Given the description of an element on the screen output the (x, y) to click on. 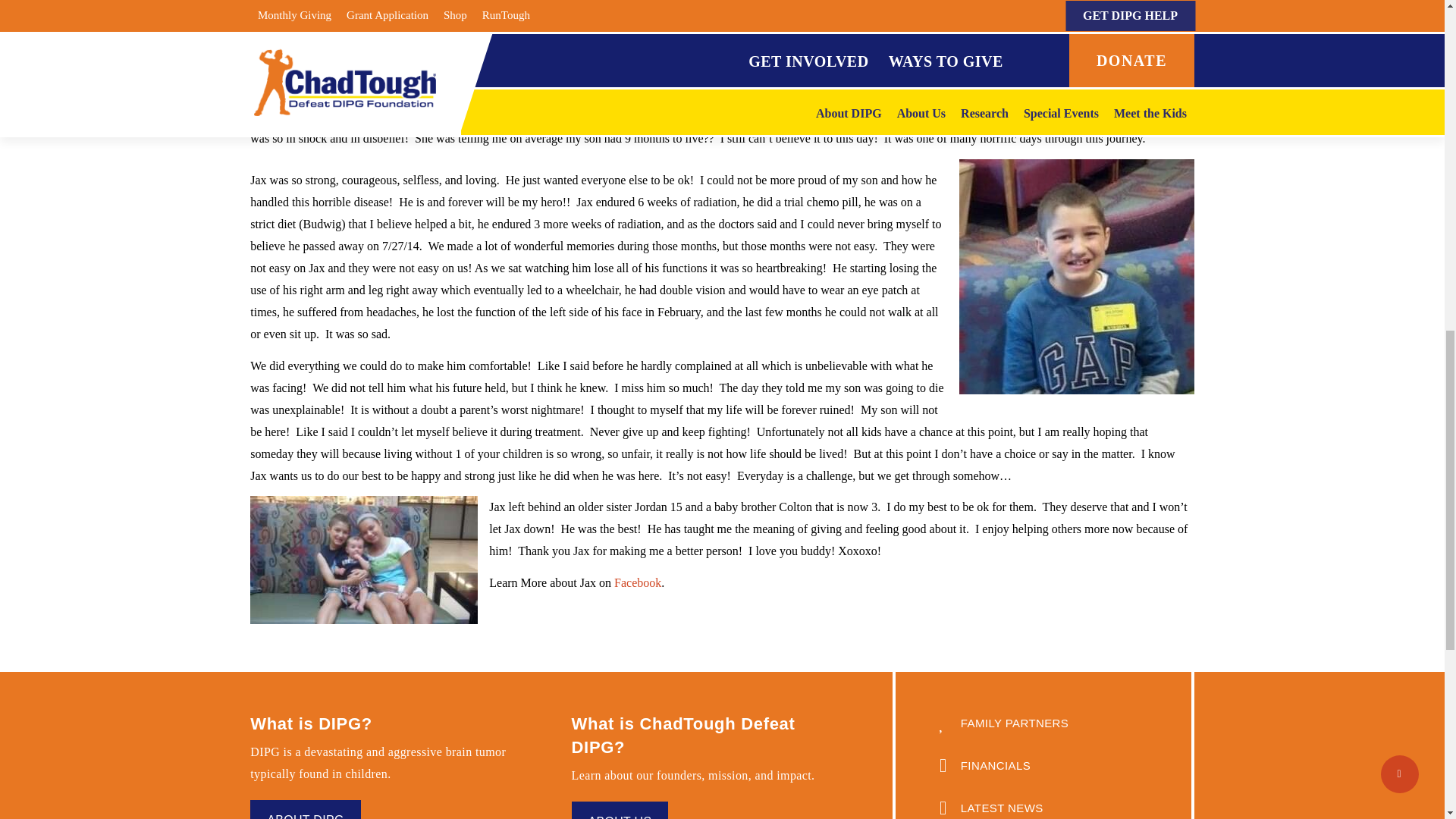
Latest News (1042, 803)
About DIPG (304, 809)
Our Family Partners (1042, 722)
About Us (620, 810)
Our Financials (1042, 764)
